Given the description of an element on the screen output the (x, y) to click on. 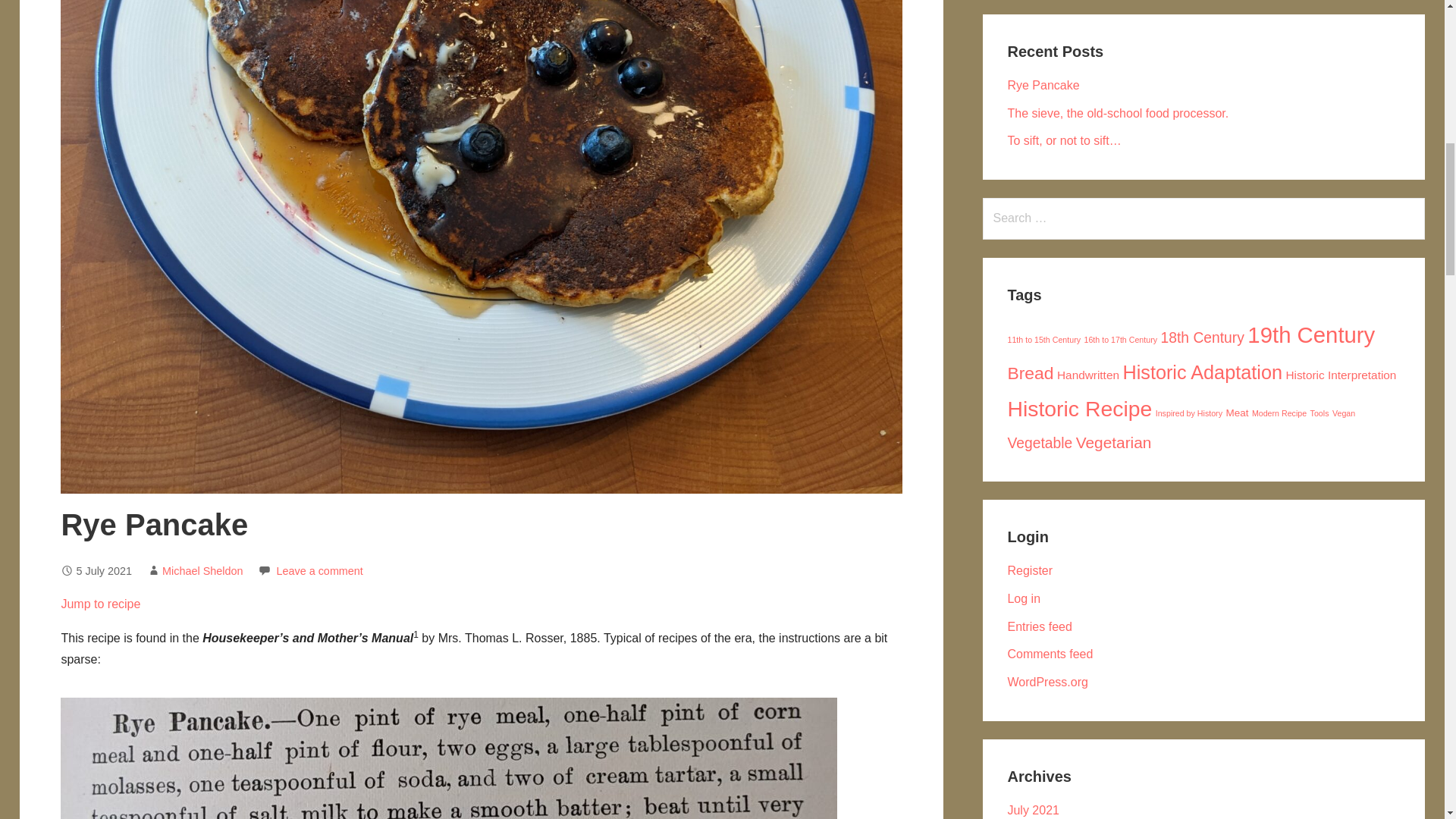
18th Century (1201, 337)
Leave a comment (319, 571)
Michael Sheldon (202, 571)
The sieve, the old-school food processor. (1117, 113)
16th to 17th Century (1120, 338)
Rye Pancake (1042, 84)
11th to 15th Century (1043, 338)
Posts by Michael Sheldon (202, 571)
Jump to recipe (100, 603)
